Given the description of an element on the screen output the (x, y) to click on. 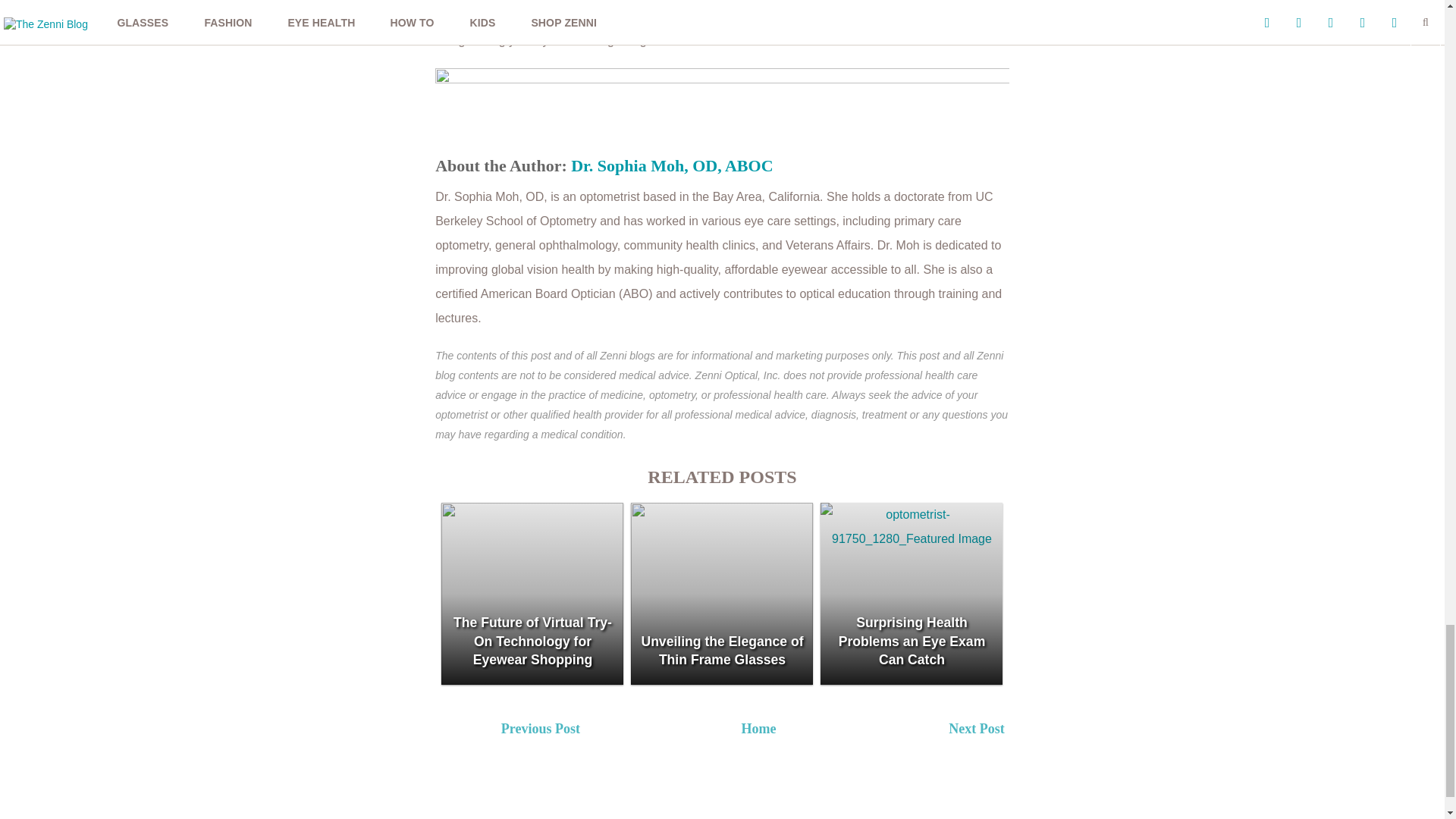
Previous Post (605, 731)
The Future of Virtual Try-On Technology for Eyewear Shopping (532, 593)
Home (758, 728)
Dr. Sophia Moh, OD, ABOC (671, 165)
Unveiling the Elegance of Thin Frame Glasses (721, 593)
Surprising Health Problems an Eye Exam Can Catch (912, 593)
Next Post (1053, 731)
